Given the description of an element on the screen output the (x, y) to click on. 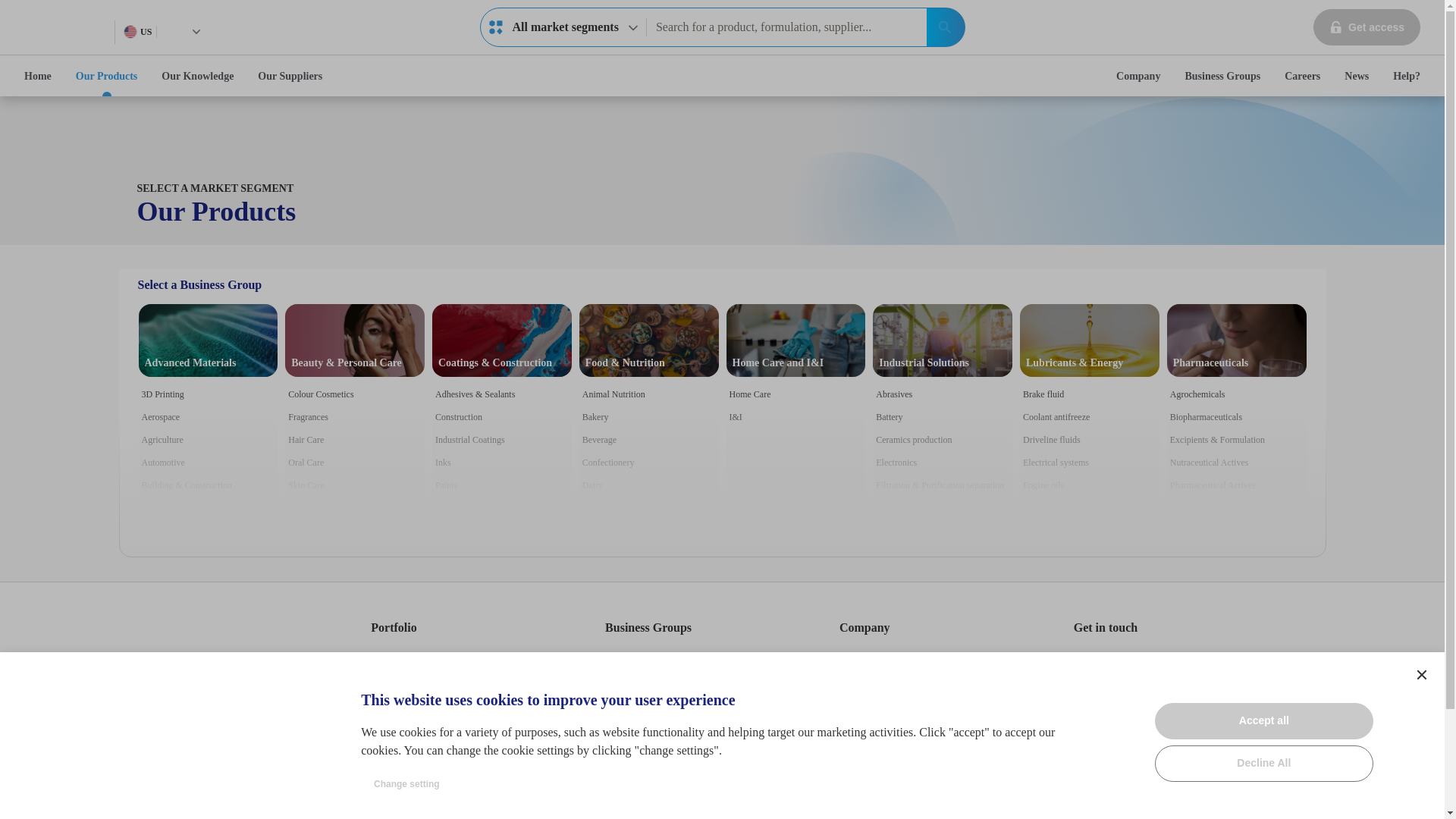
Our Knowledge (197, 76)
Careers (563, 27)
Search (1302, 76)
Get access (944, 27)
Home (1367, 27)
Settings (37, 76)
News (1421, 675)
Help? (1356, 76)
US (1406, 76)
